Given the description of an element on the screen output the (x, y) to click on. 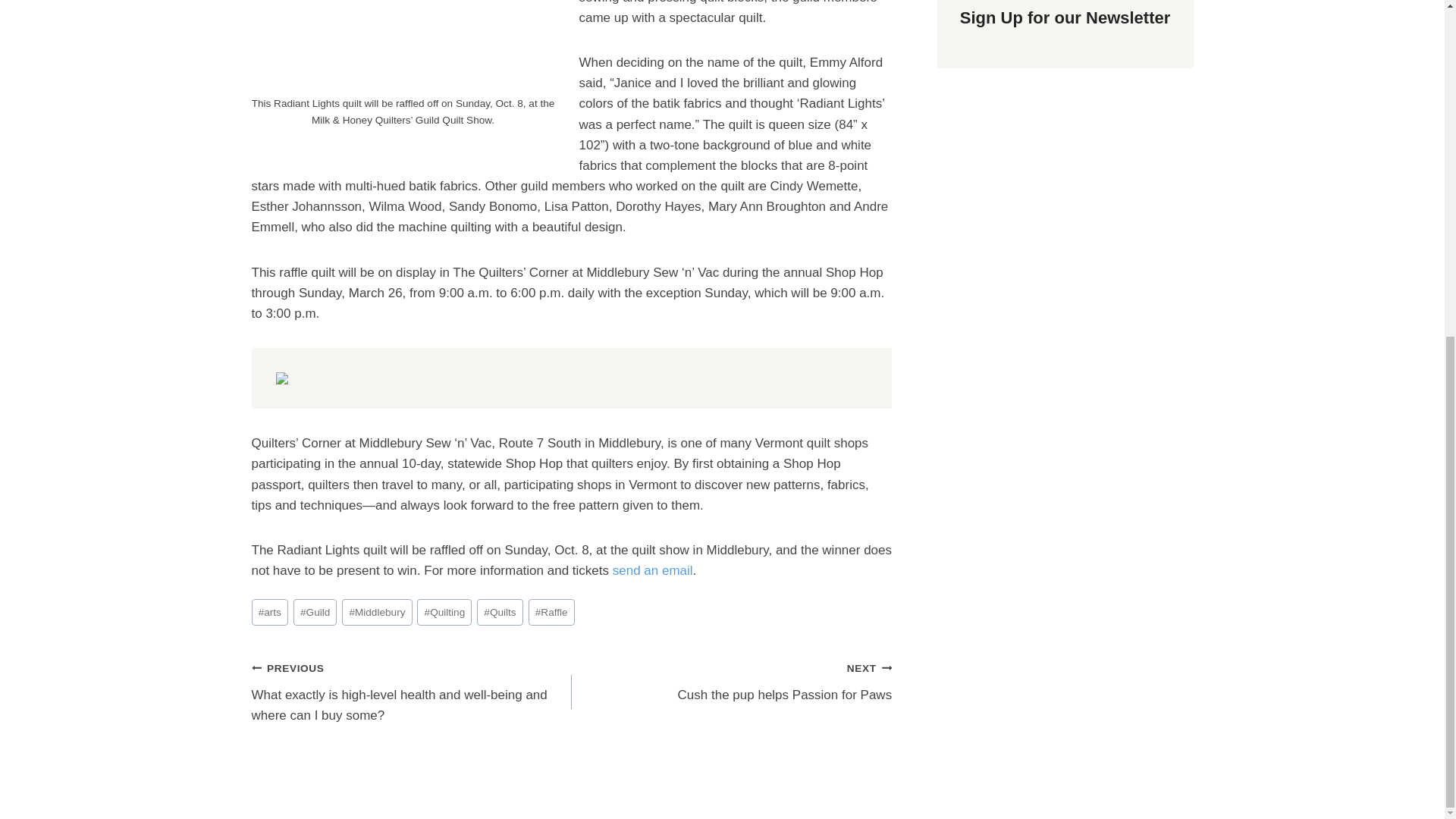
Middlebury (377, 611)
Quilts (499, 611)
arts (269, 611)
Quilting (443, 611)
Guild (315, 611)
Raffle (551, 611)
